Given the description of an element on the screen output the (x, y) to click on. 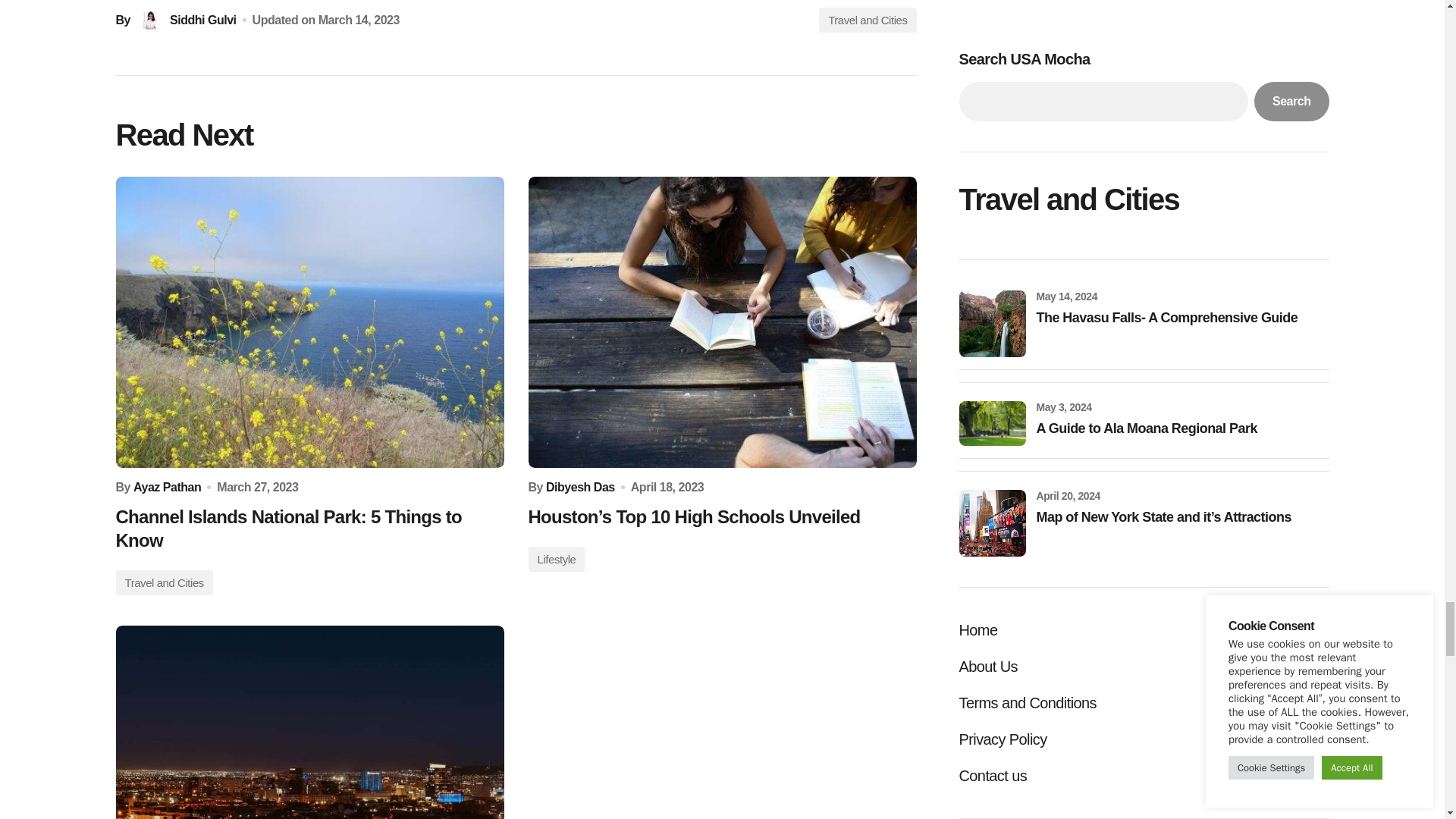
10 Exciting Things to Do in El Paso 8 (309, 722)
Channel Islands National Park: 5 Things to Know 11 (309, 321)
Houston's Top 10 High Schools Unveiled 7 (721, 321)
